Given the description of an element on the screen output the (x, y) to click on. 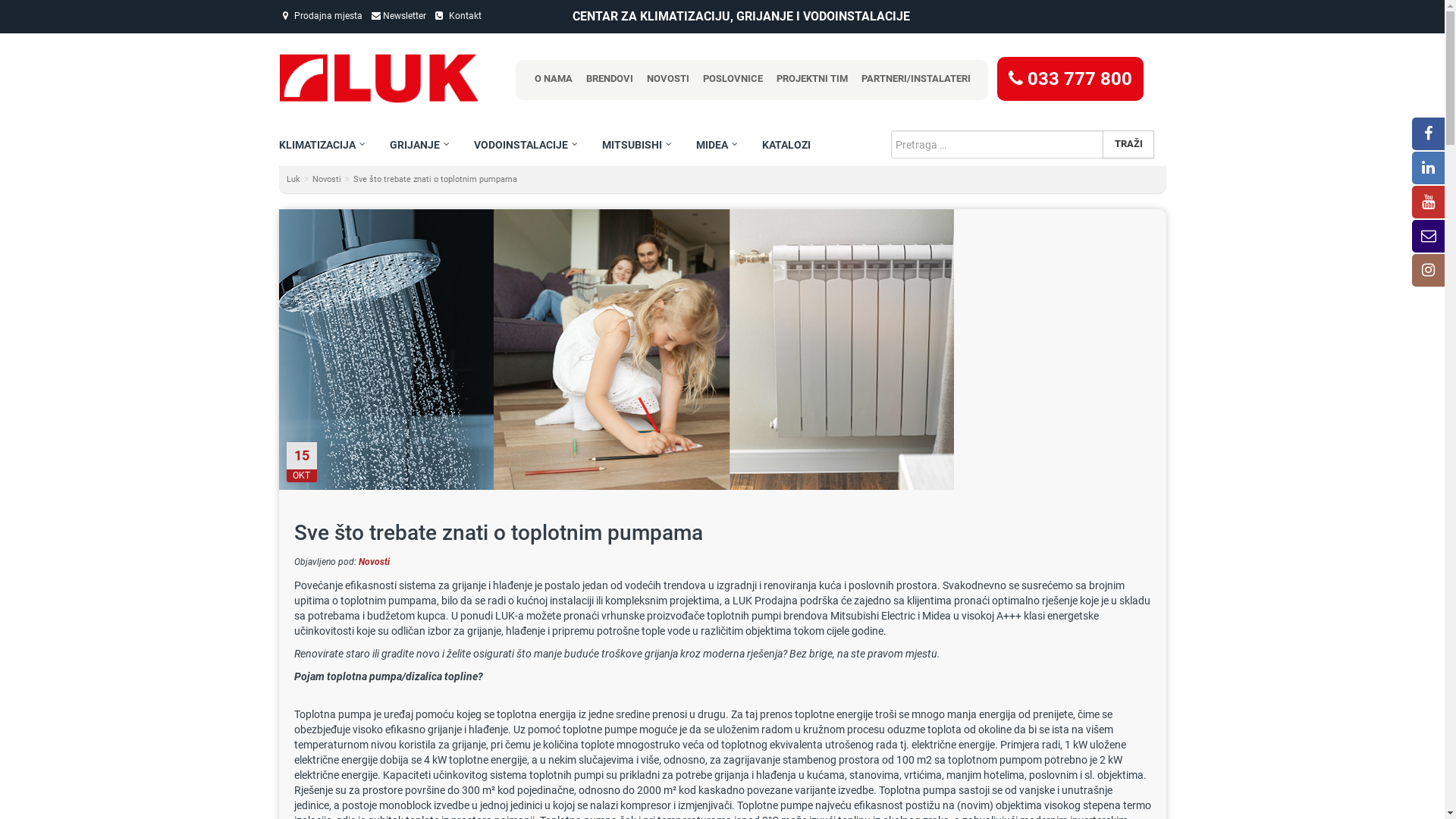
BRENDOVI Element type: text (608, 79)
PARTNERI/INSTALATERI Element type: text (914, 79)
MIDEA Element type: text (709, 145)
Luk Element type: text (293, 179)
Novosti Element type: text (373, 561)
Newsletter Element type: text (398, 15)
PROJEKTNI TIM Element type: text (810, 79)
033 777 800 Element type: text (1069, 78)
POSLOVNICE Element type: text (731, 79)
KATALOZI Element type: text (784, 145)
O NAMA Element type: text (552, 79)
Novosti Element type: text (326, 179)
LUK Element type: hover (378, 78)
Kontakt Element type: text (458, 15)
MITSUBISHI Element type: text (629, 145)
KLIMATIZACIJA Element type: text (324, 145)
Prodajna mjesta Element type: text (321, 15)
GRIJANJE Element type: text (412, 145)
NOVOSTI Element type: text (667, 79)
VODOINSTALACIJE Element type: text (519, 145)
